Given the description of an element on the screen output the (x, y) to click on. 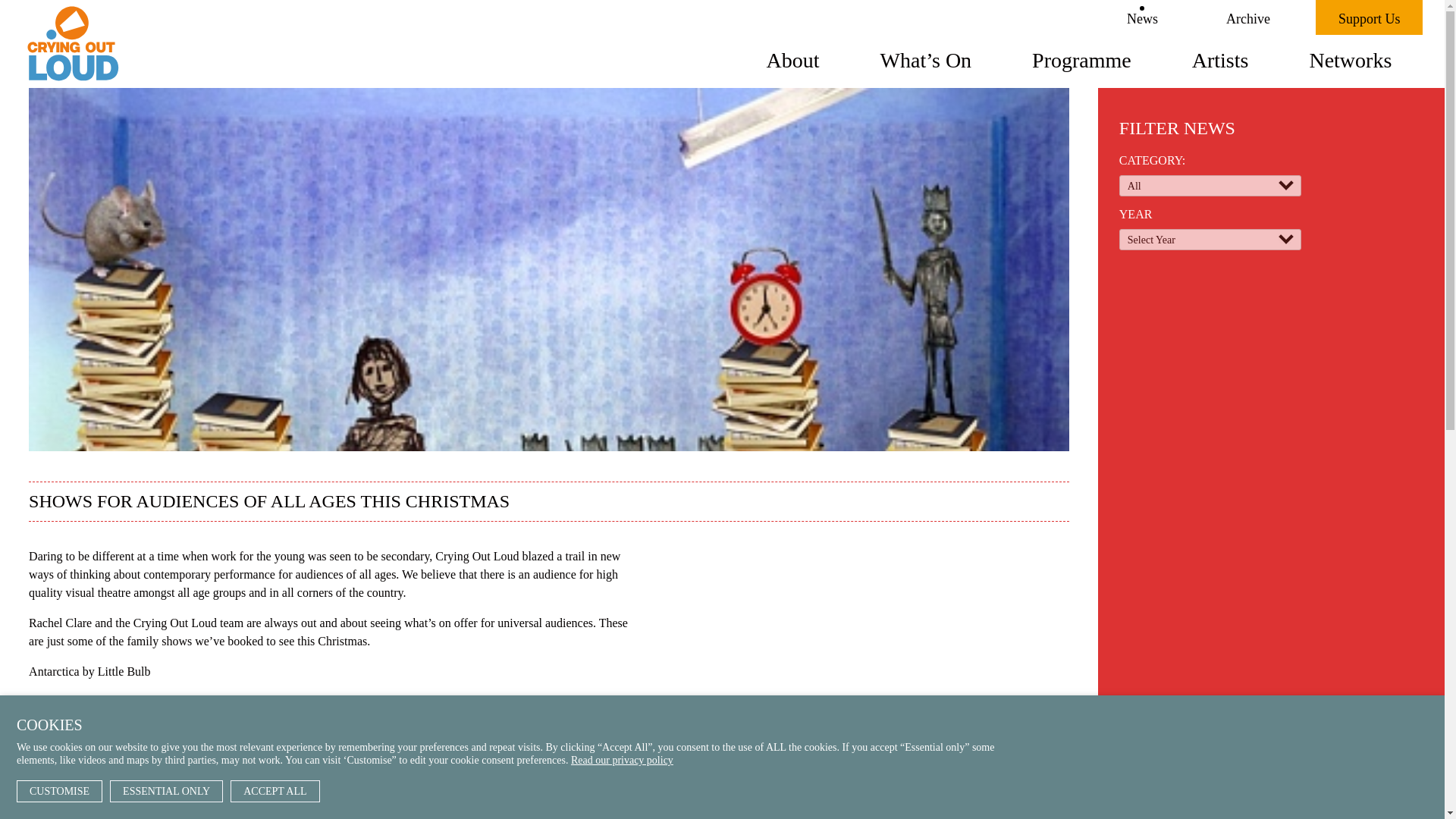
CUSTOMISE (58, 791)
News (1141, 17)
Archive (1248, 17)
About (793, 60)
ACCEPT ALL (274, 791)
Support Us (1369, 17)
Read our privacy policy (621, 760)
Artists (1220, 60)
ESSENTIAL ONLY (166, 791)
Networks (1349, 60)
Programme (1081, 60)
